Given the description of an element on the screen output the (x, y) to click on. 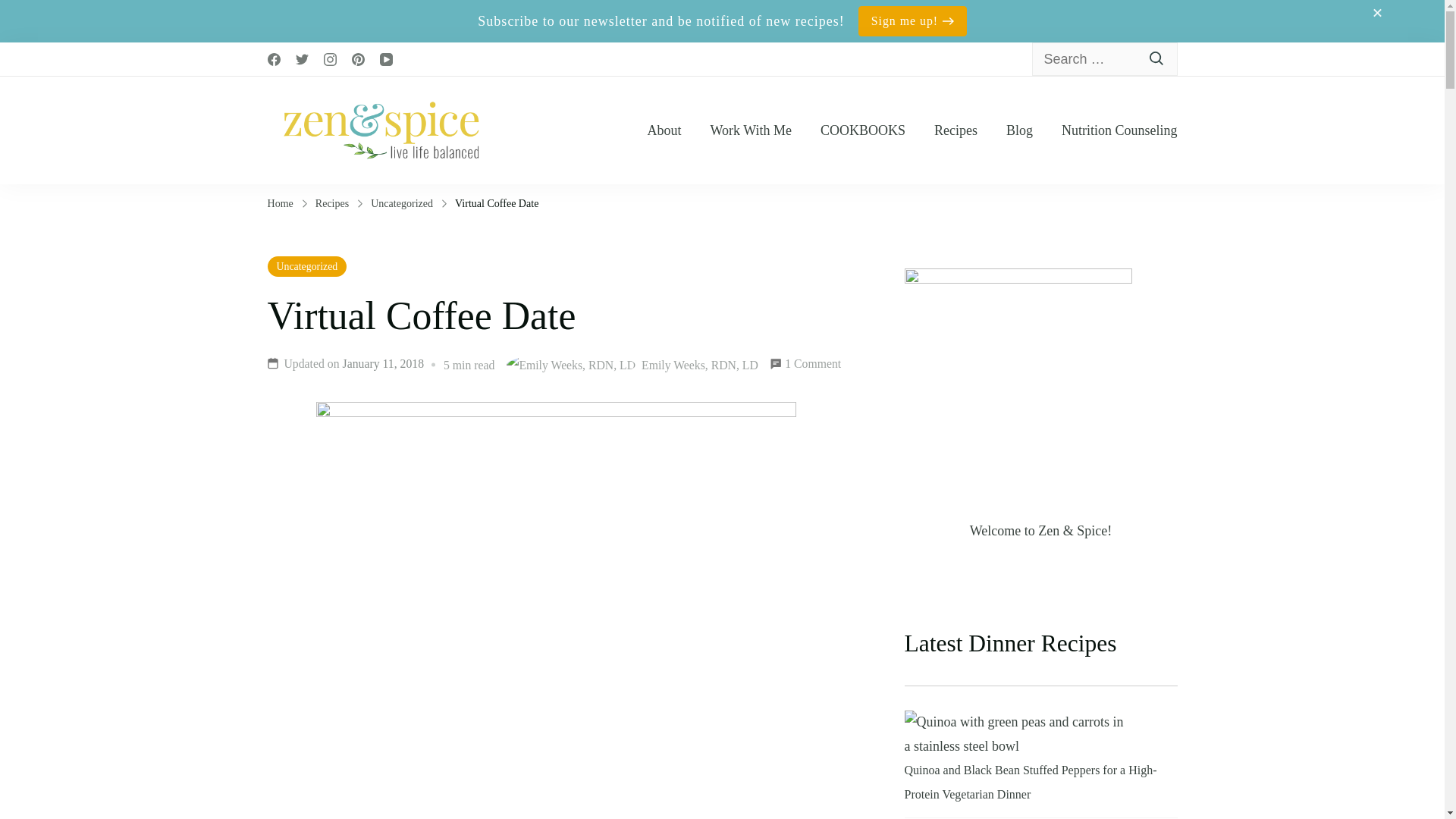
Work With Me (750, 130)
Recipes (955, 130)
Sign me up! (912, 20)
Search (1157, 58)
COOKBOOKS (863, 130)
Search (1157, 58)
Blog (1019, 130)
About (663, 130)
Nutrition Counseling (1119, 130)
Search (1157, 58)
